Given the description of an element on the screen output the (x, y) to click on. 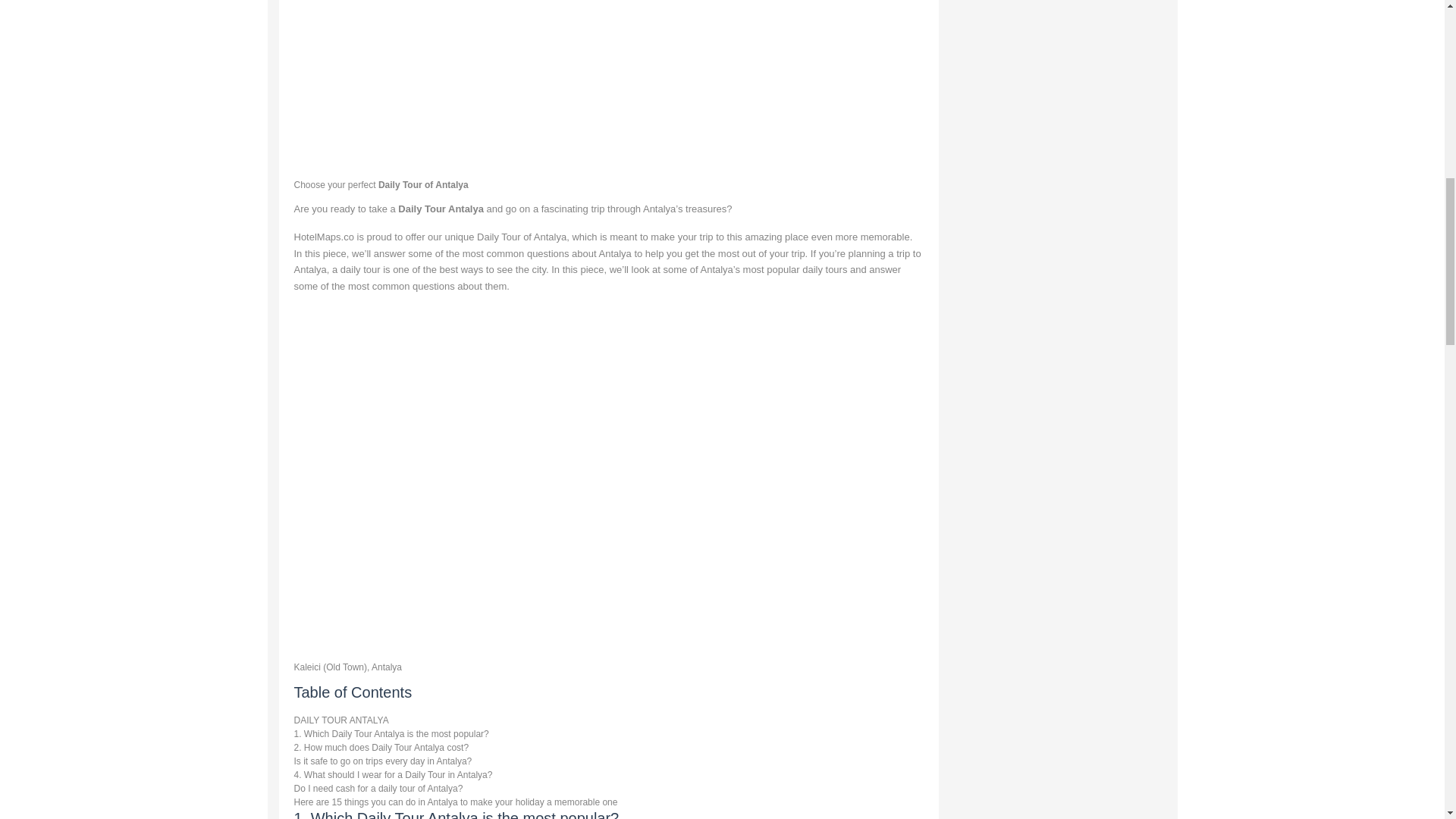
DAILY TOUR ANTALYA (341, 719)
